Given the description of an element on the screen output the (x, y) to click on. 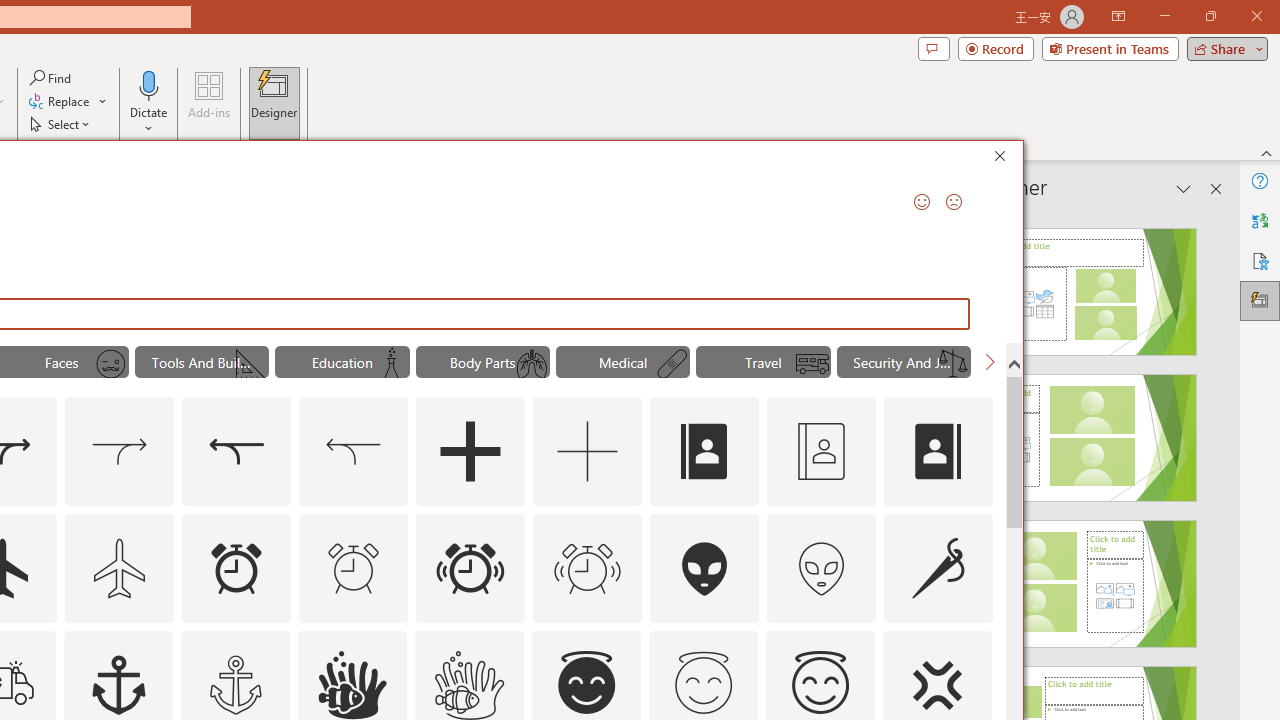
"Security And Justice" Icons. (904, 362)
AutomationID: Icons_Acquisition_LTR_M (120, 452)
Send a Smile (922, 201)
AutomationID: Icons_AddressBook_LTR_M (821, 452)
"Medical" Icons. (622, 362)
Thumbnail (977, 645)
